Given the description of an element on the screen output the (x, y) to click on. 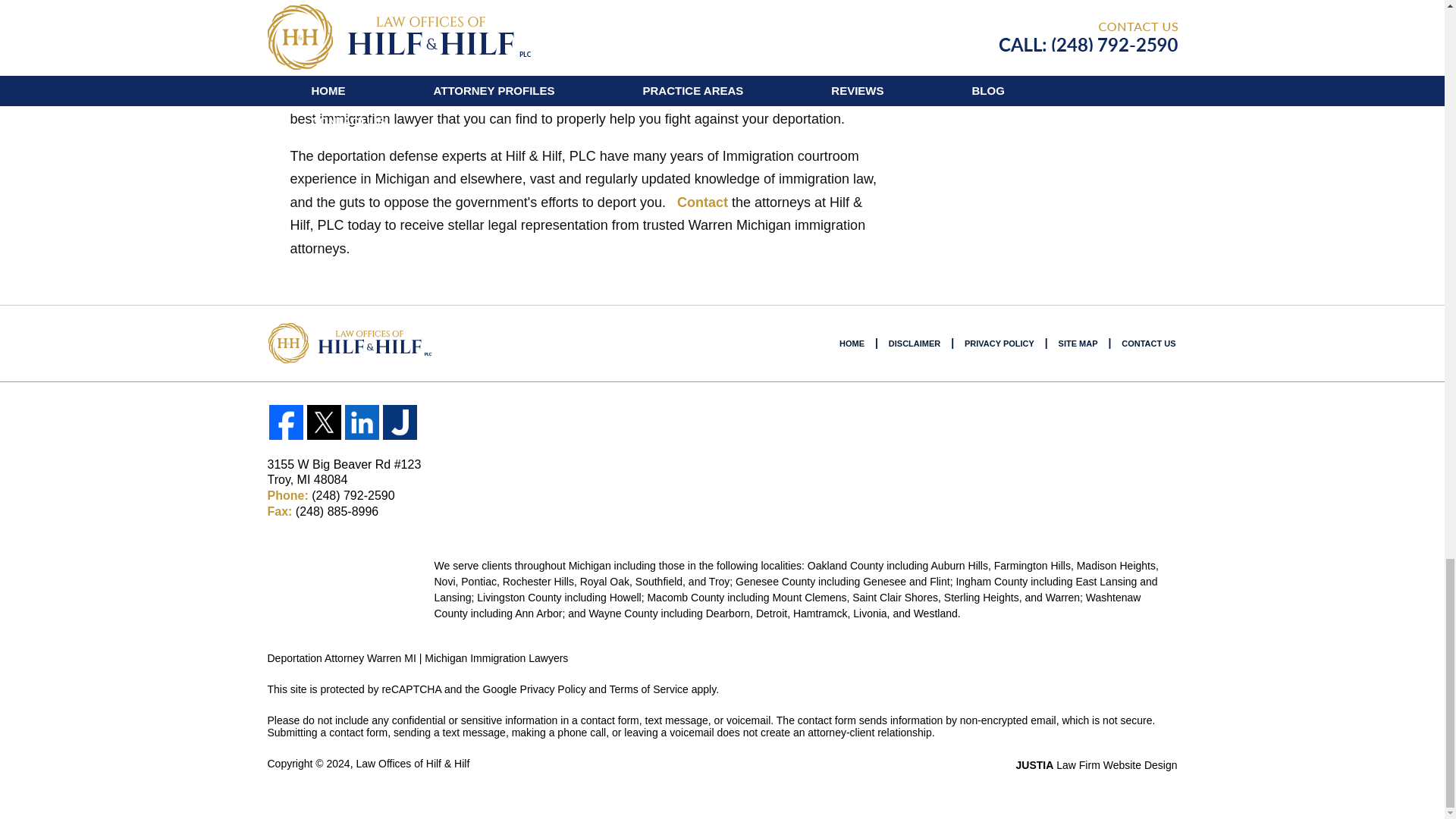
DISCLAIMER (913, 343)
JUSTIA Law Firm Website Design (1096, 765)
Contact (702, 201)
Terms of Service (649, 689)
Facebook (285, 421)
CONTACT US (1147, 343)
HOME (851, 343)
Privacy Policy (552, 689)
SITE MAP (1078, 343)
Justia (399, 421)
LinkedIn (361, 421)
PRIVACY POLICY (999, 343)
Twitter (323, 421)
